Given the description of an element on the screen output the (x, y) to click on. 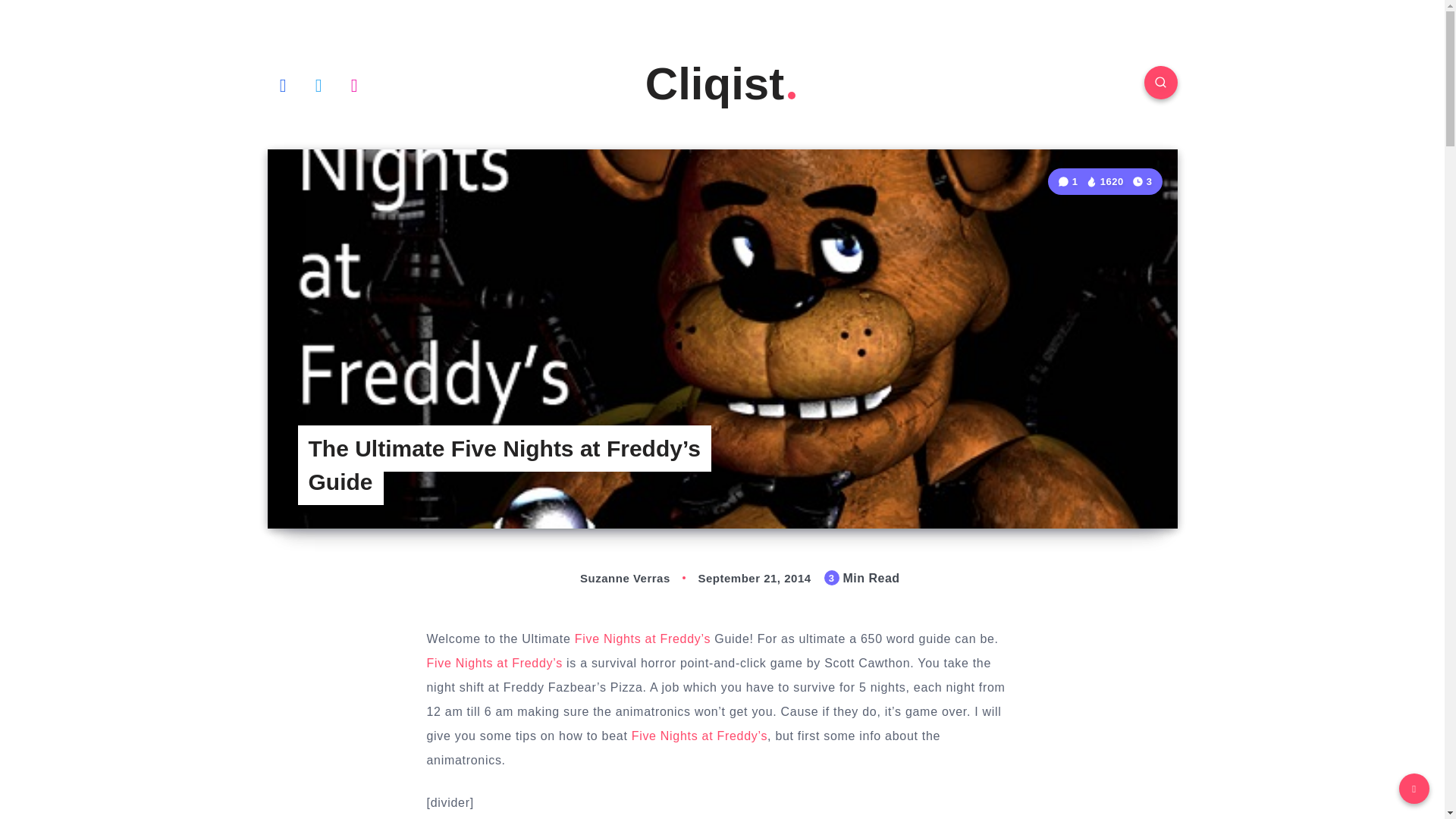
3 Min Read (1142, 181)
Author: Suzanne Verras (608, 577)
Cliqist (722, 83)
1620 Views (1105, 181)
1 Comment (1069, 181)
1 (1069, 181)
Suzanne Verras (608, 577)
